Given the description of an element on the screen output the (x, y) to click on. 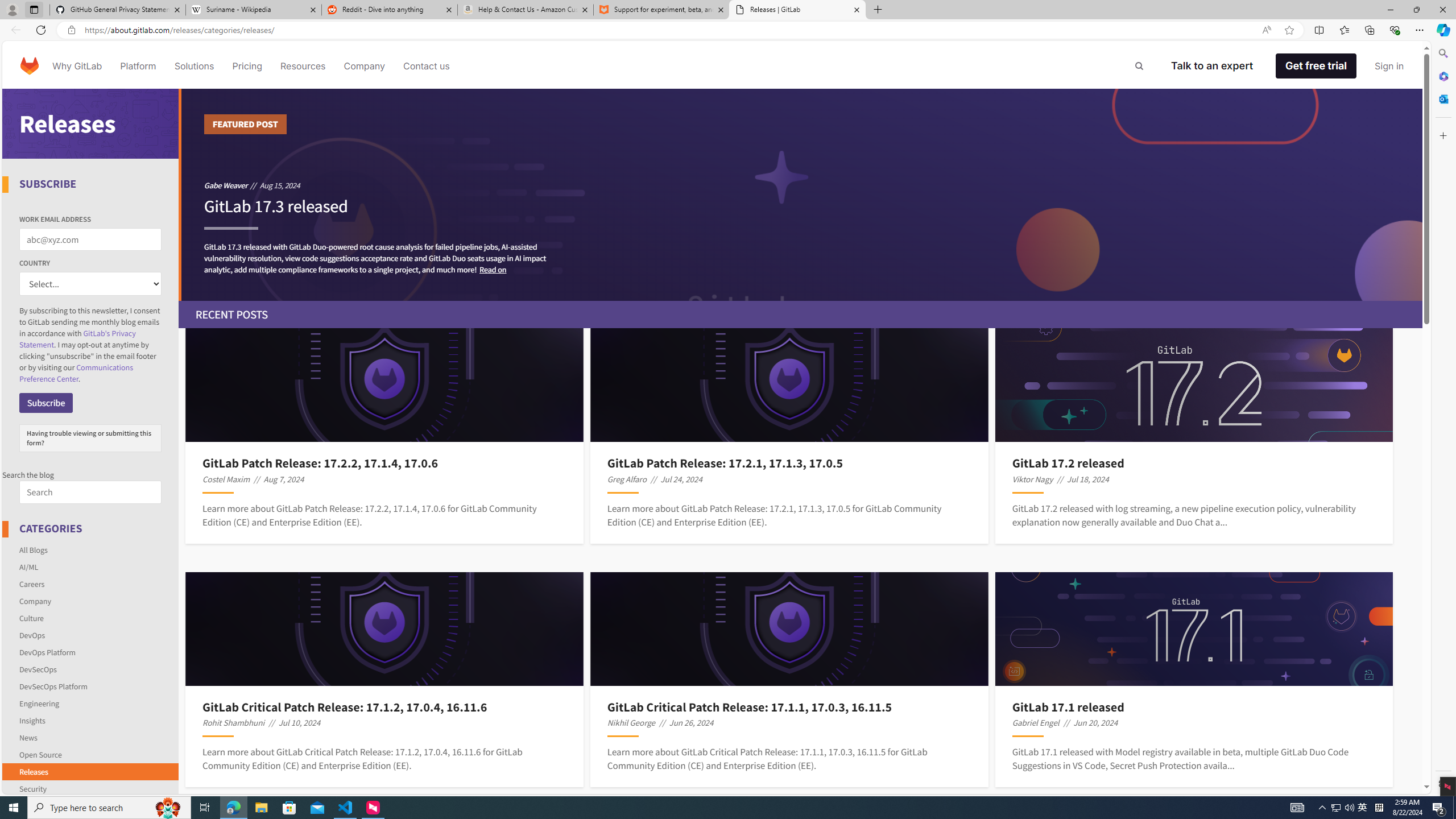
Viktor Nagy (1031, 478)
Resources (302, 65)
Help & Contact Us - Amazon Customer Service - Sleeping (525, 9)
GitLab's Privacy Statement (76, 339)
Why GitLab (77, 65)
Platform (138, 65)
Engineering (90, 702)
Greg Alfaro (626, 478)
DevSecOps (37, 668)
Solutions (193, 65)
AI/ML (28, 566)
GitLab Critical Patch Release: 17.1.2, 17.0.4, 16.11.6 (384, 706)
Careers (31, 583)
